Given the description of an element on the screen output the (x, y) to click on. 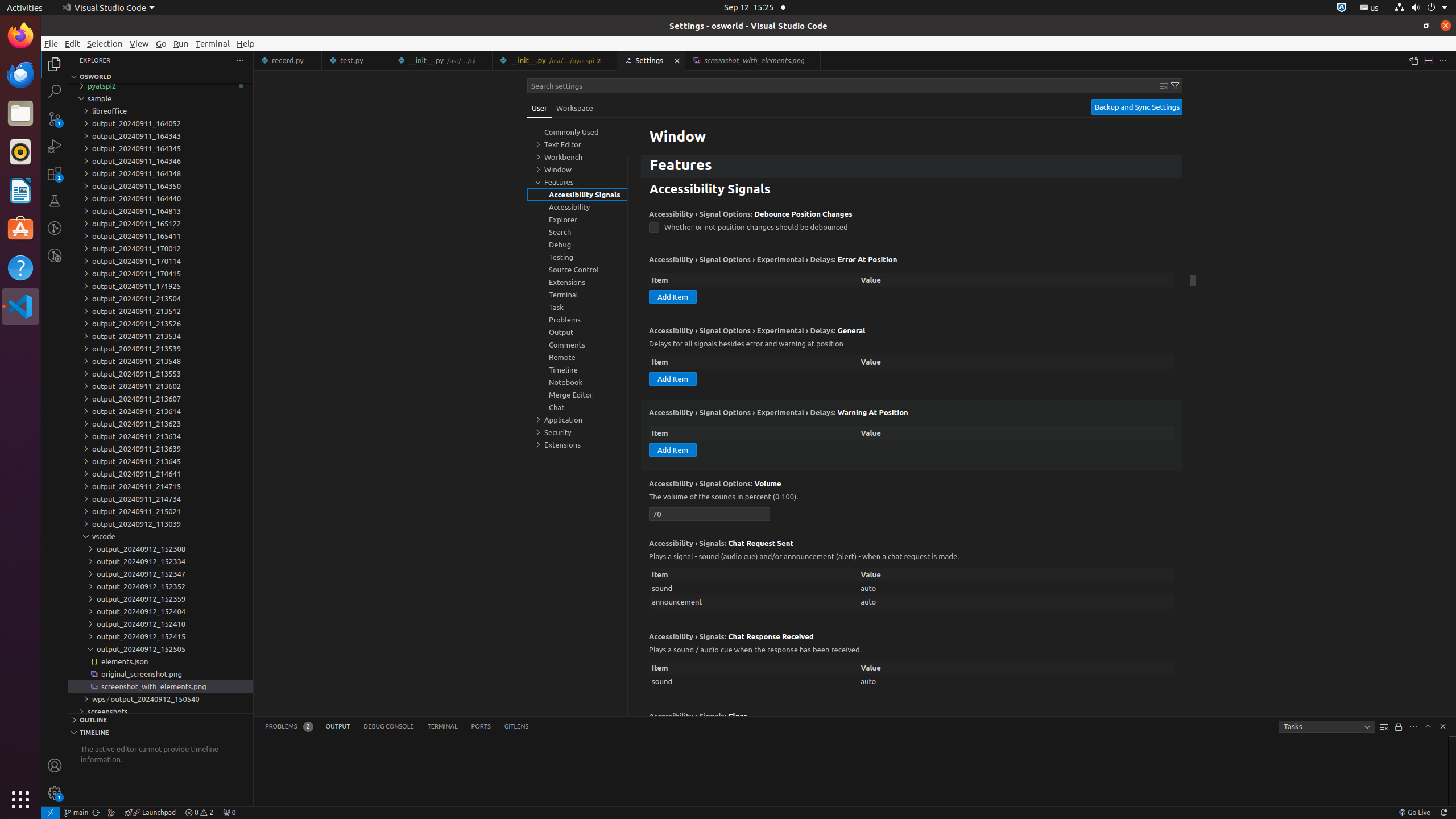
Merge Editor, group Element type: tree-item (577, 394)
